Given the description of an element on the screen output the (x, y) to click on. 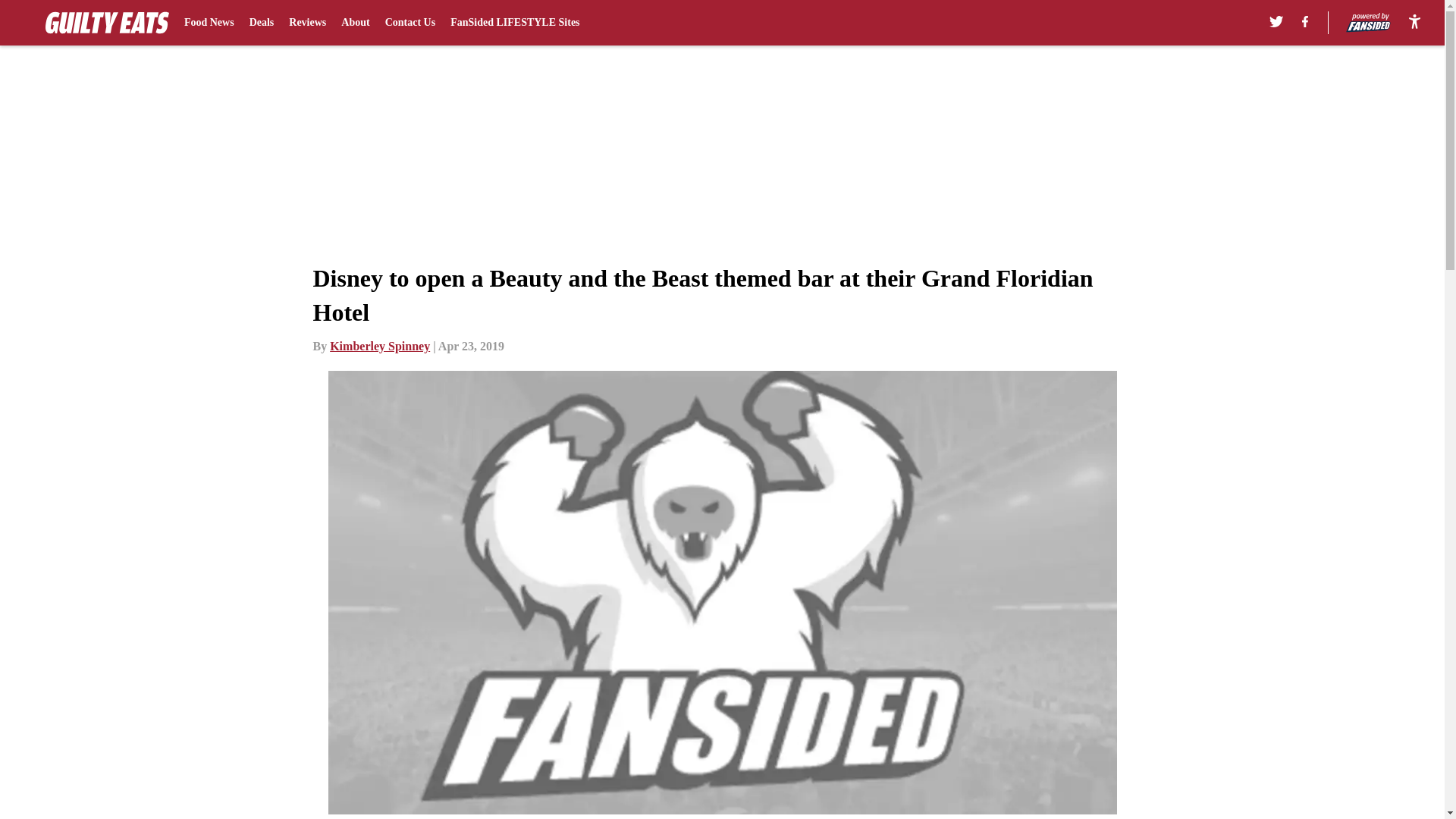
Kimberley Spinney (379, 345)
Deals (261, 22)
Food News (209, 22)
Contact Us (410, 22)
FanSided LIFESTYLE Sites (514, 22)
Reviews (307, 22)
About (354, 22)
